Given the description of an element on the screen output the (x, y) to click on. 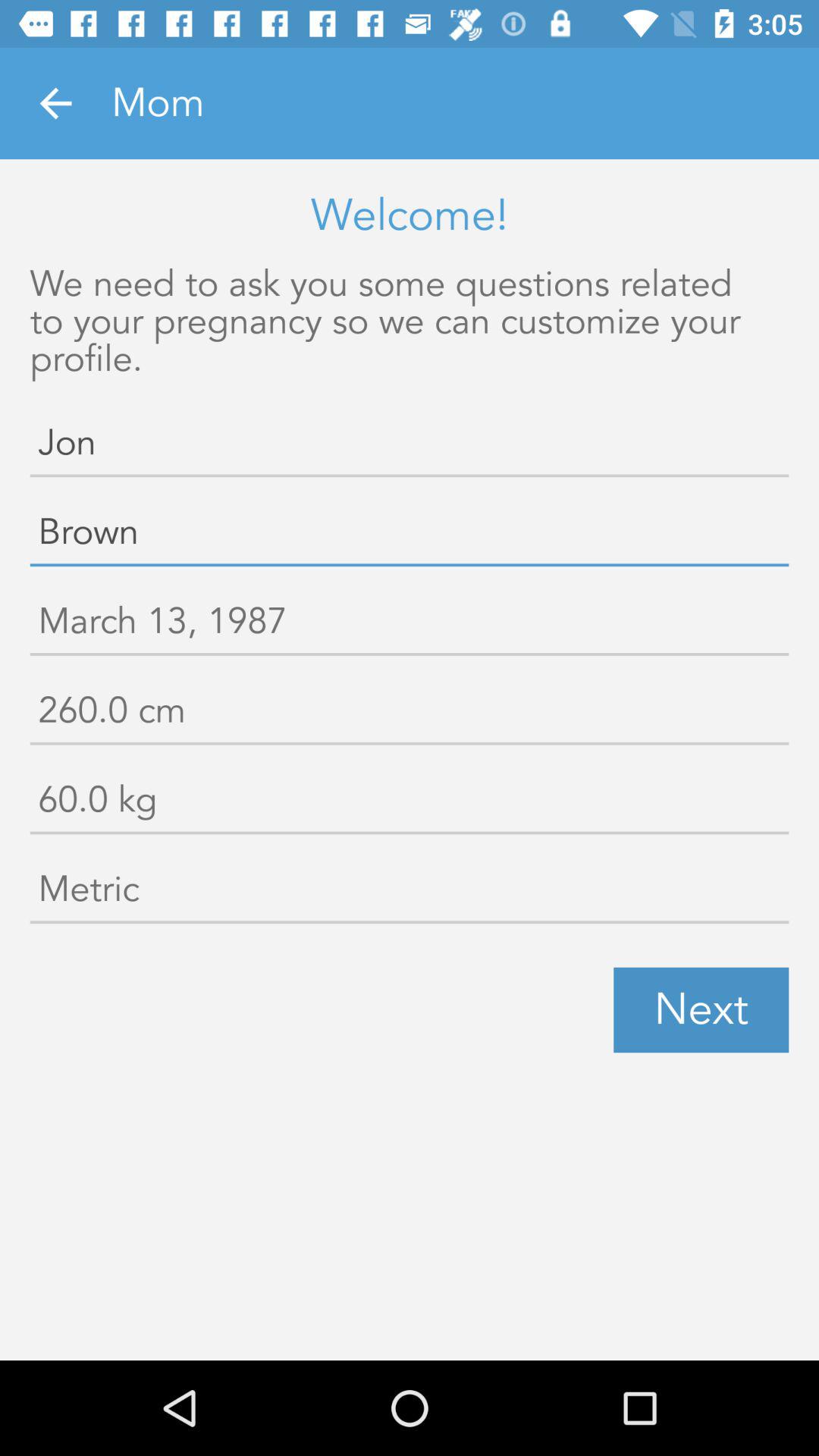
select march 13, 1987 (409, 624)
